Given the description of an element on the screen output the (x, y) to click on. 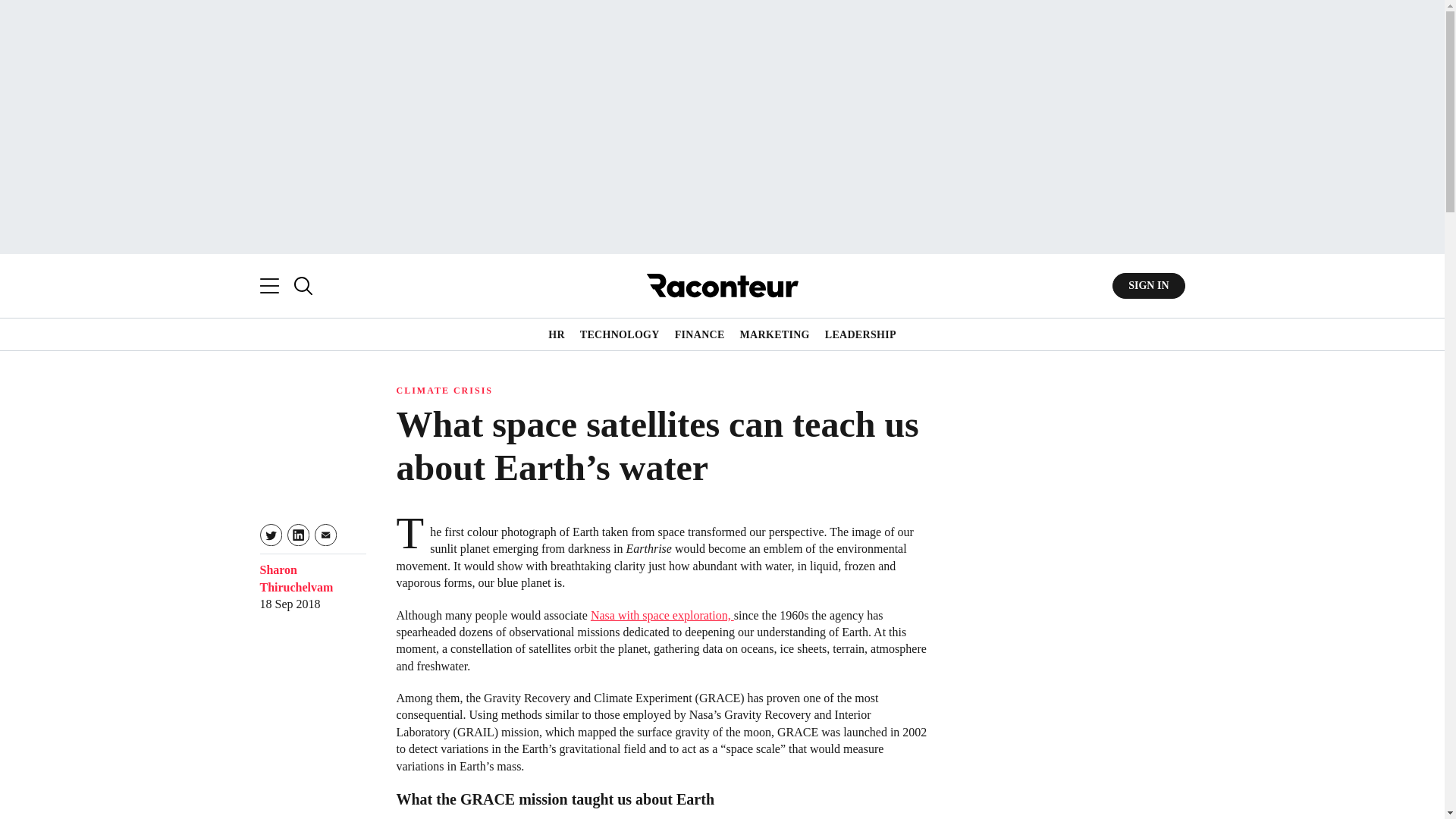
TECHNOLOGY (619, 334)
Sharon Thiruchelvam (296, 577)
CLIMATE CRISIS (444, 389)
FINANCE (700, 334)
Raconteur (721, 285)
LEADERSHIP (860, 334)
MARKETING (774, 334)
HR (556, 334)
SIGN IN (1148, 285)
Nasa with space exploration, (662, 615)
